Given the description of an element on the screen output the (x, y) to click on. 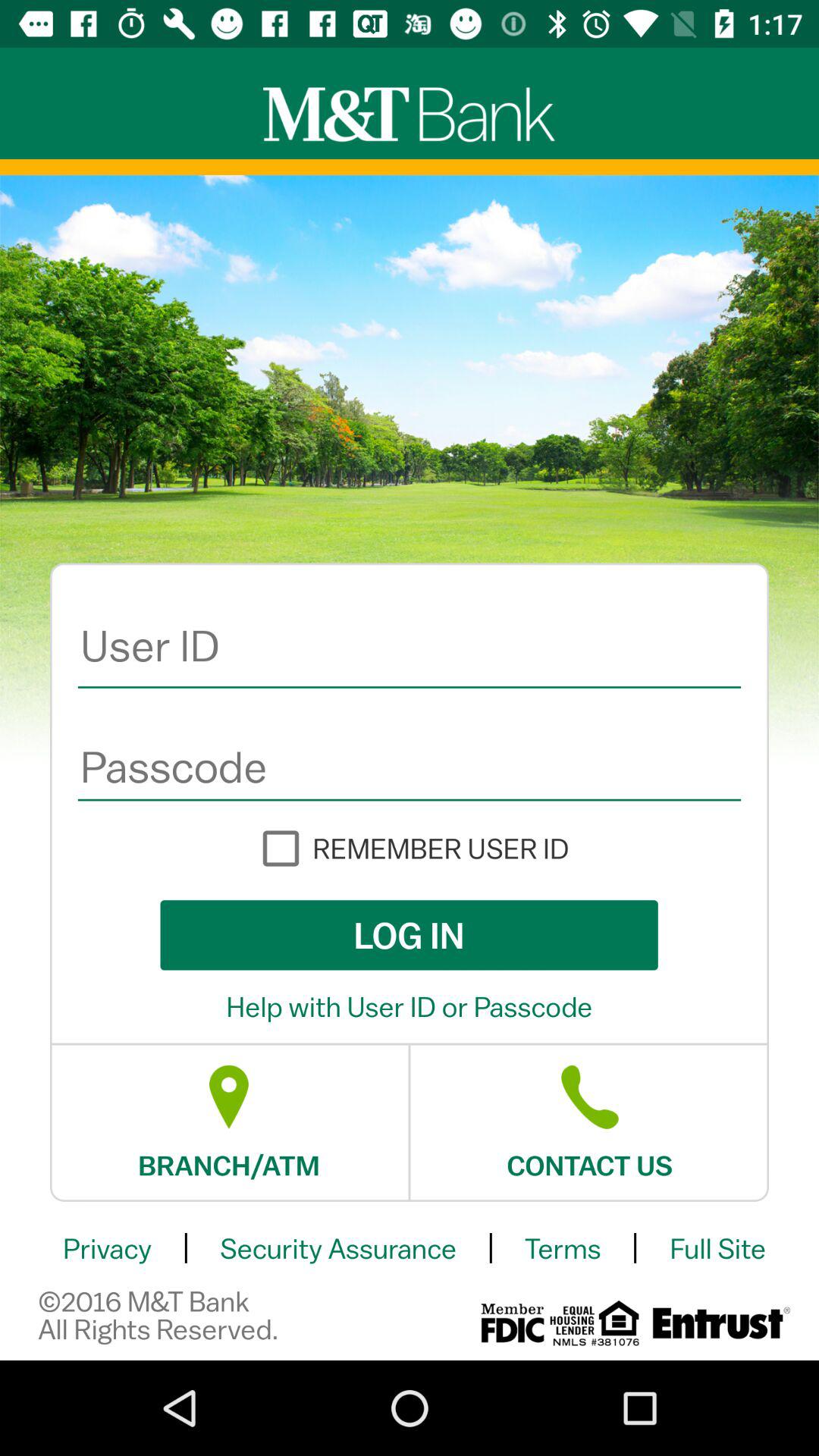
flip to security assurance (338, 1247)
